Given the description of an element on the screen output the (x, y) to click on. 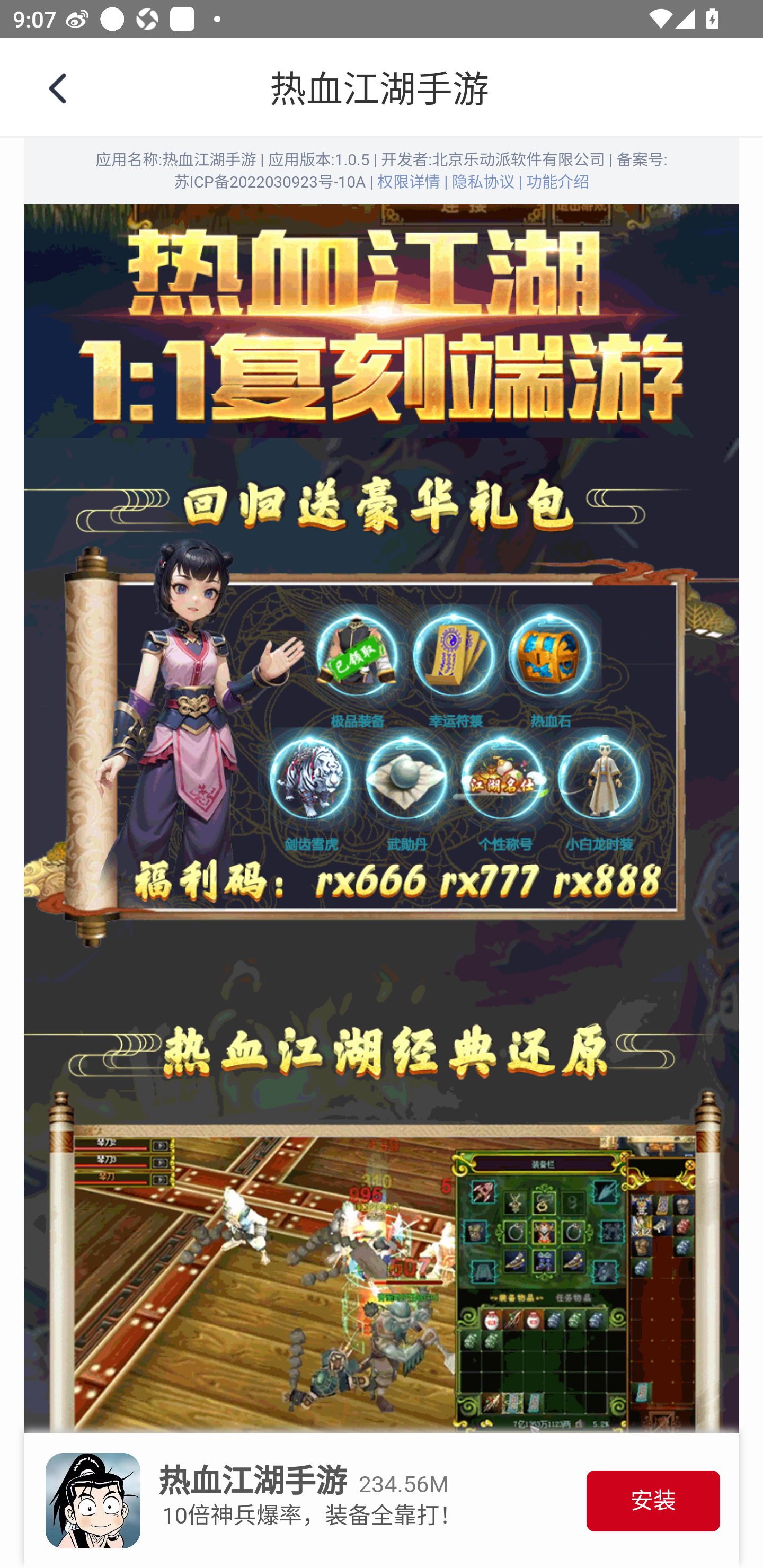
安装 (653, 1501)
